Given the description of an element on the screen output the (x, y) to click on. 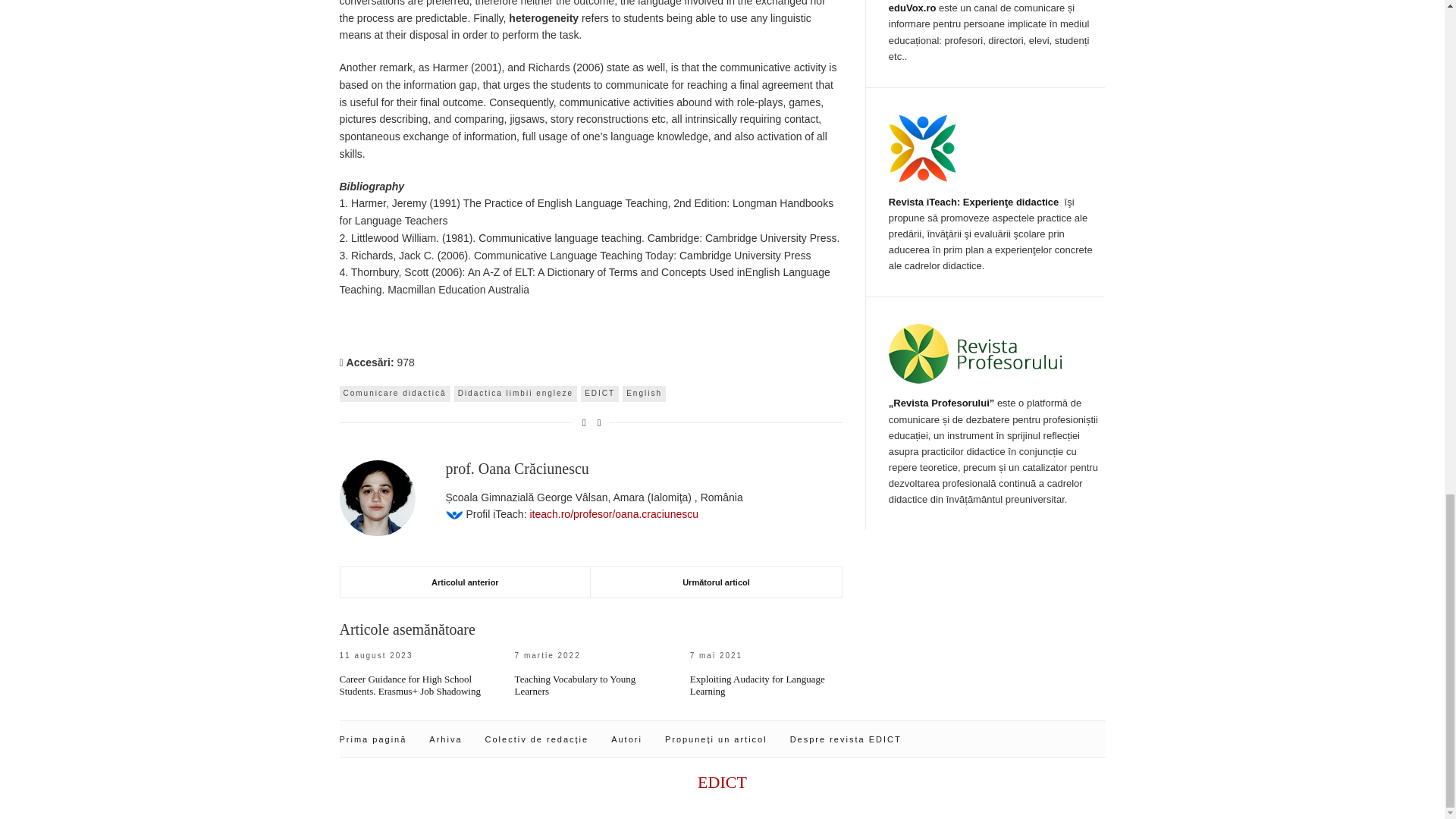
EDICT (599, 393)
Revista Profesorului (975, 353)
Articolul anterior (465, 581)
English (644, 393)
Didactica limbii engleze (516, 393)
Teaching Vocabulary to Young Learners (575, 684)
Exploiting Audacity for Language Learning (757, 684)
